Given the description of an element on the screen output the (x, y) to click on. 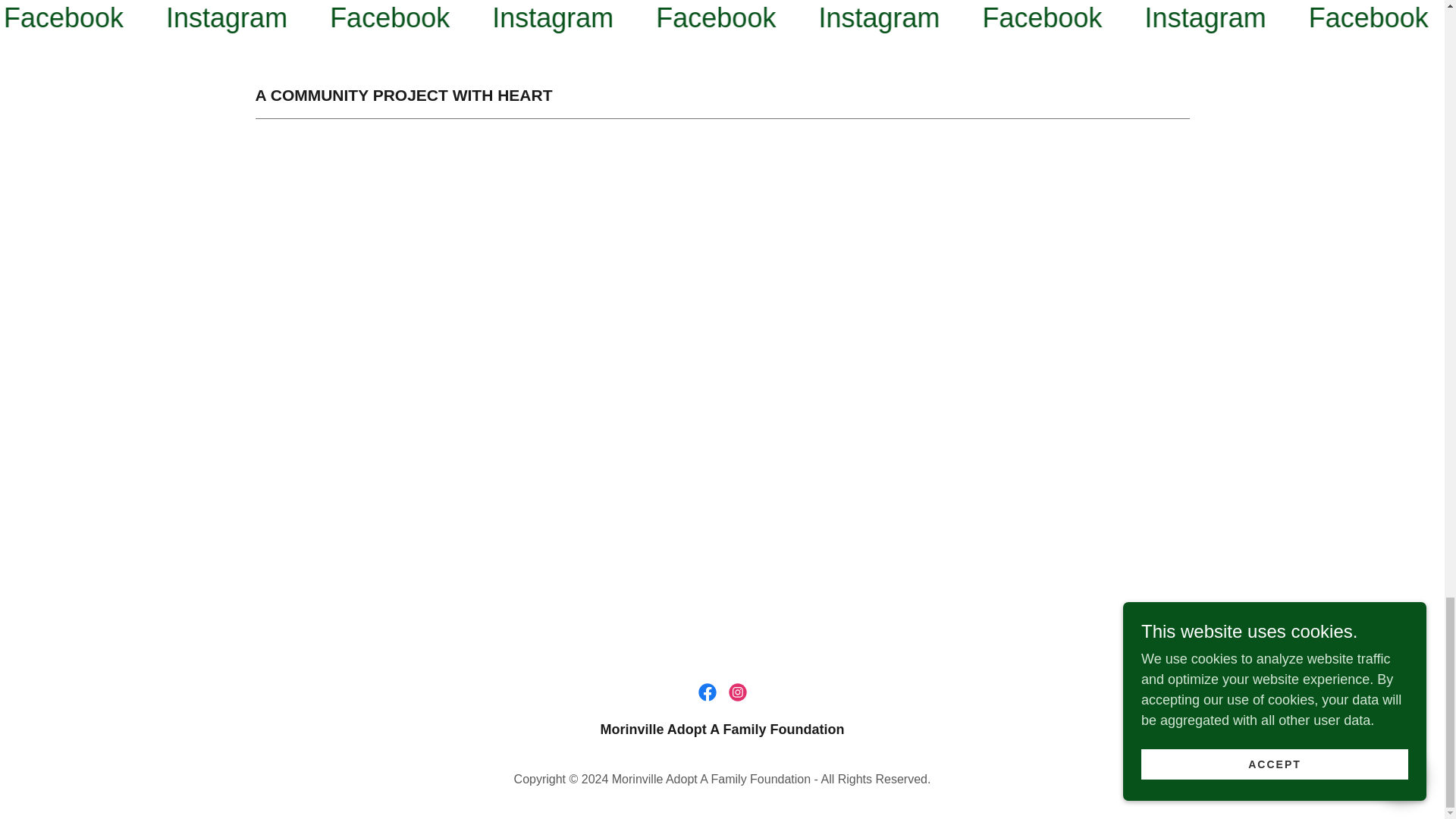
Instagram (849, 17)
Facebook (1334, 17)
Facebook (1010, 17)
Facebook (362, 17)
Instagram (200, 17)
Facebook (686, 17)
Instagram (1172, 17)
Facebook (49, 17)
Instagram (524, 17)
